Given the description of an element on the screen output the (x, y) to click on. 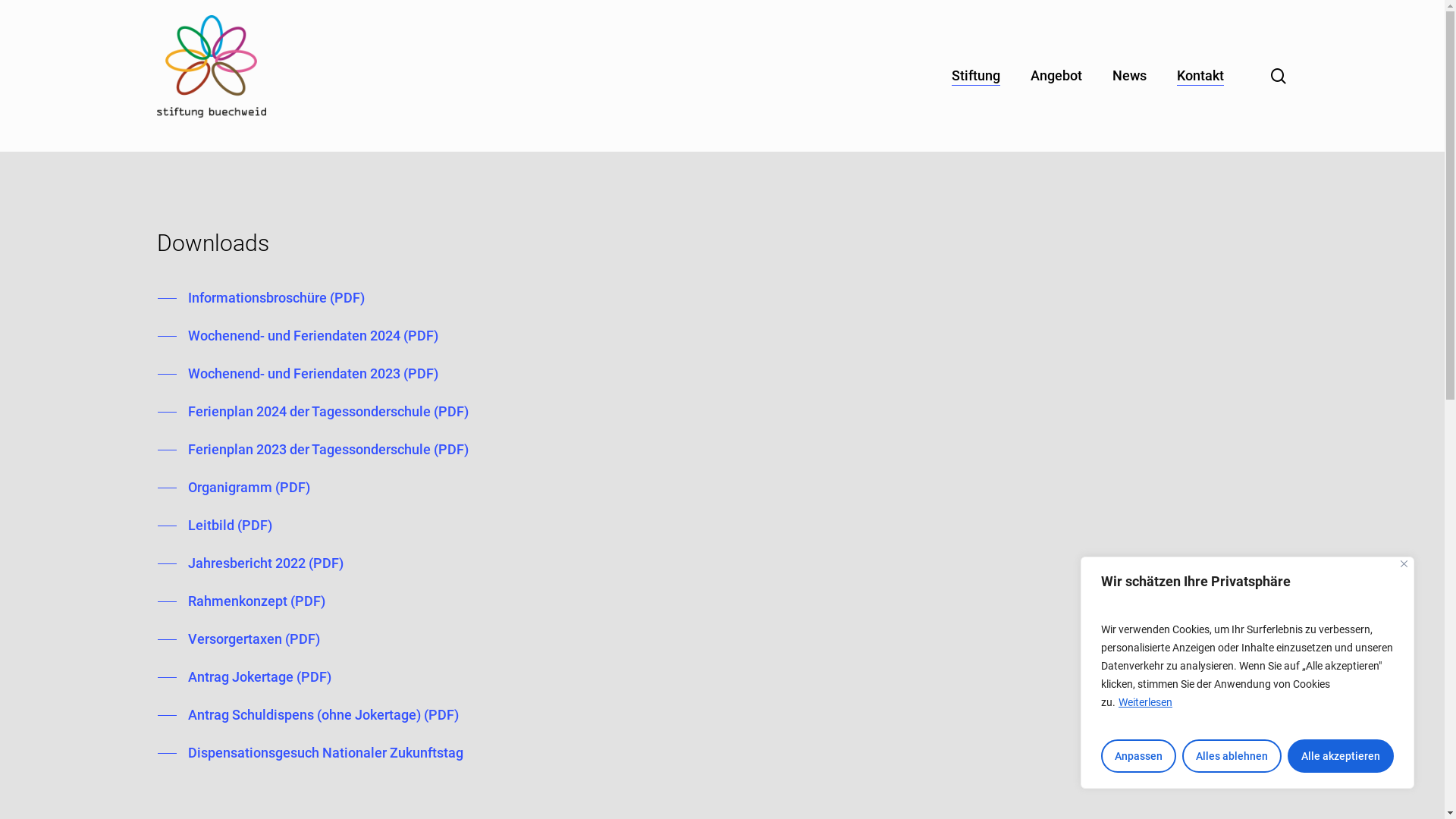
search Element type: text (1278, 76)
Wochenend- und Feriendaten 2023 (PDF) Element type: text (297, 373)
Alle akzeptieren Element type: text (1340, 755)
Stiftung Element type: text (975, 75)
Disclaimer Element type: text (928, 641)
Impressum Element type: text (928, 613)
Angebot Element type: text (1056, 75)
Dispensationsgesuch Nationaler Zukunftstag Element type: text (310, 752)
News Element type: text (1129, 75)
Antrag Schuldispens (ohne Jokertage) (PDF) Element type: text (307, 714)
Jahresbericht 2022 (PDF) Element type: text (250, 563)
Antrag Jokertage (PDF) Element type: text (244, 677)
Ferienplan 2024 der Tagessonderschule (PDF) Element type: text (312, 411)
Ferienplan 2023 der Tagessonderschule (PDF) Element type: text (312, 449)
Leitbild (PDF) Element type: text (214, 525)
Rahmenkonzept (PDF) Element type: text (241, 601)
Menu Element type: text (1415, 7)
Anpassen Element type: text (1138, 755)
Kontakt Element type: text (1199, 75)
Wochenend- und Feriendaten 2024 (PDF) Element type: text (297, 335)
Versorgertaxen (PDF) Element type: text (238, 639)
Organigramm (PDF) Element type: text (233, 487)
Weiterlesen Element type: text (1145, 702)
Alles ablehnen Element type: text (1231, 755)
